Given the description of an element on the screen output the (x, y) to click on. 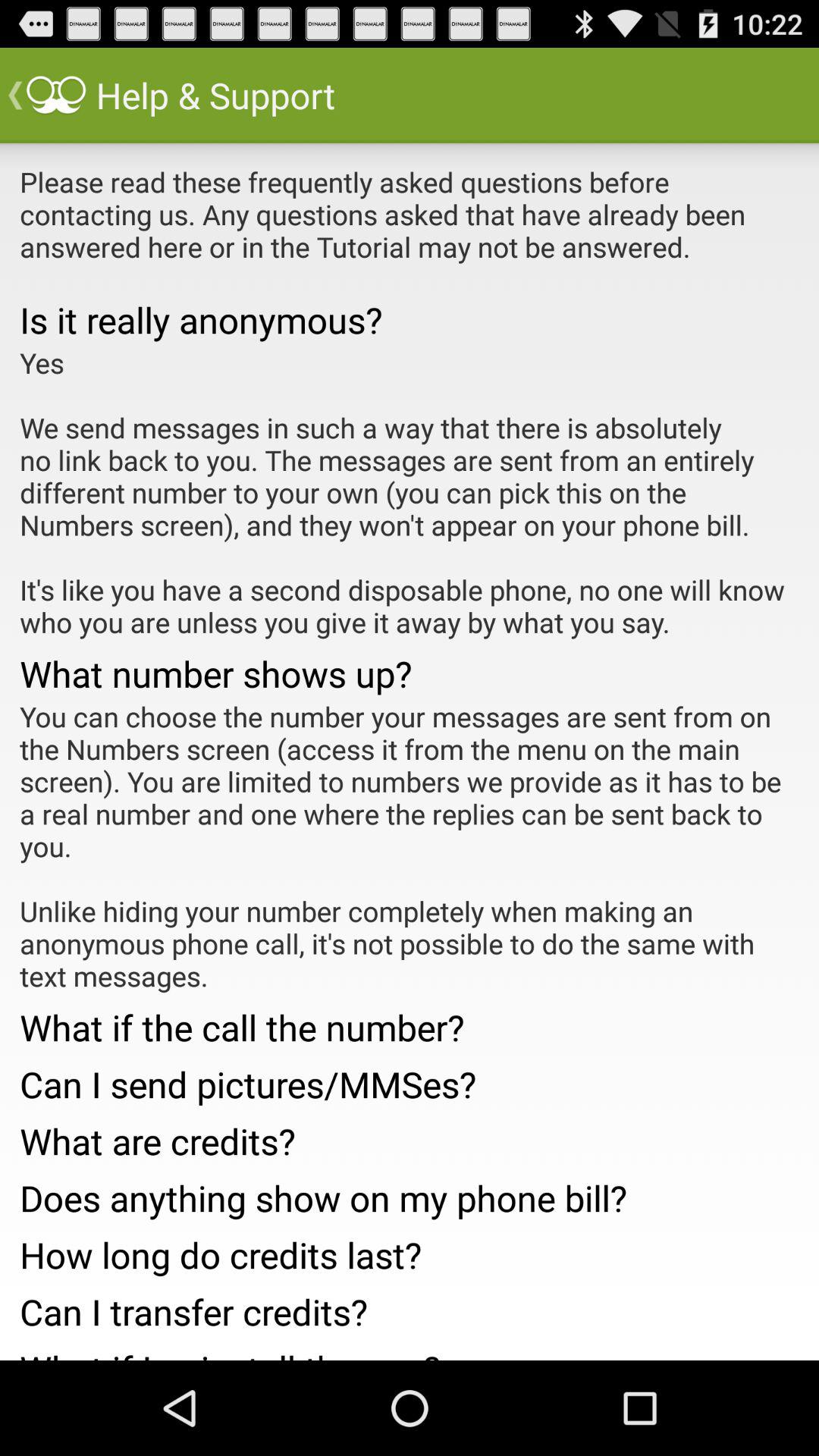
turn off the is it really (409, 319)
